Given the description of an element on the screen output the (x, y) to click on. 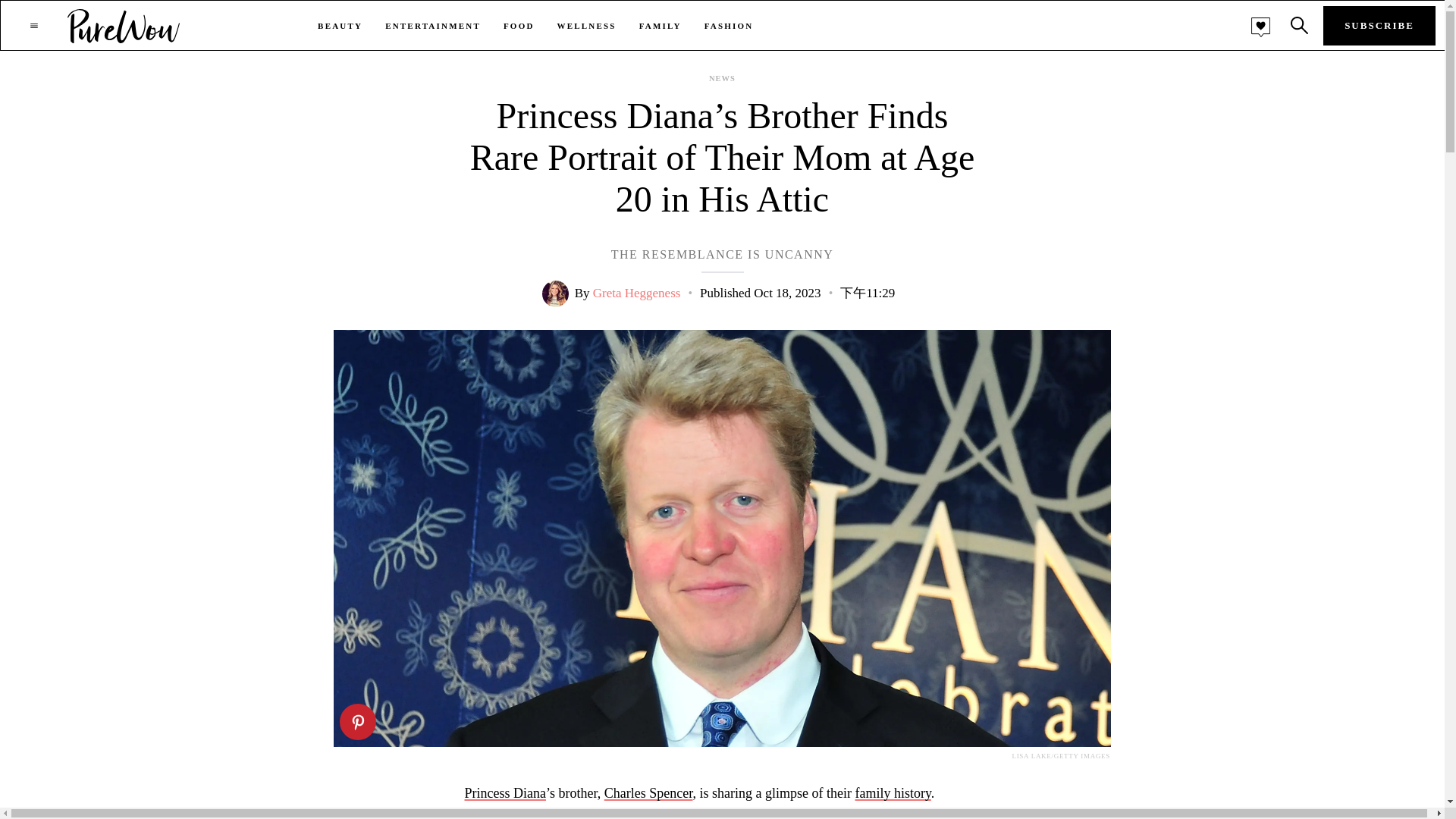
SUBSCRIBE (1379, 25)
ENTERTAINMENT (432, 25)
Greta Heggeness (636, 292)
FOOD (518, 25)
PureWow (123, 25)
WELLNESS (586, 25)
BEAUTY (339, 25)
FAMILY (660, 25)
NEWS (722, 78)
FASHION (729, 25)
